Given the description of an element on the screen output the (x, y) to click on. 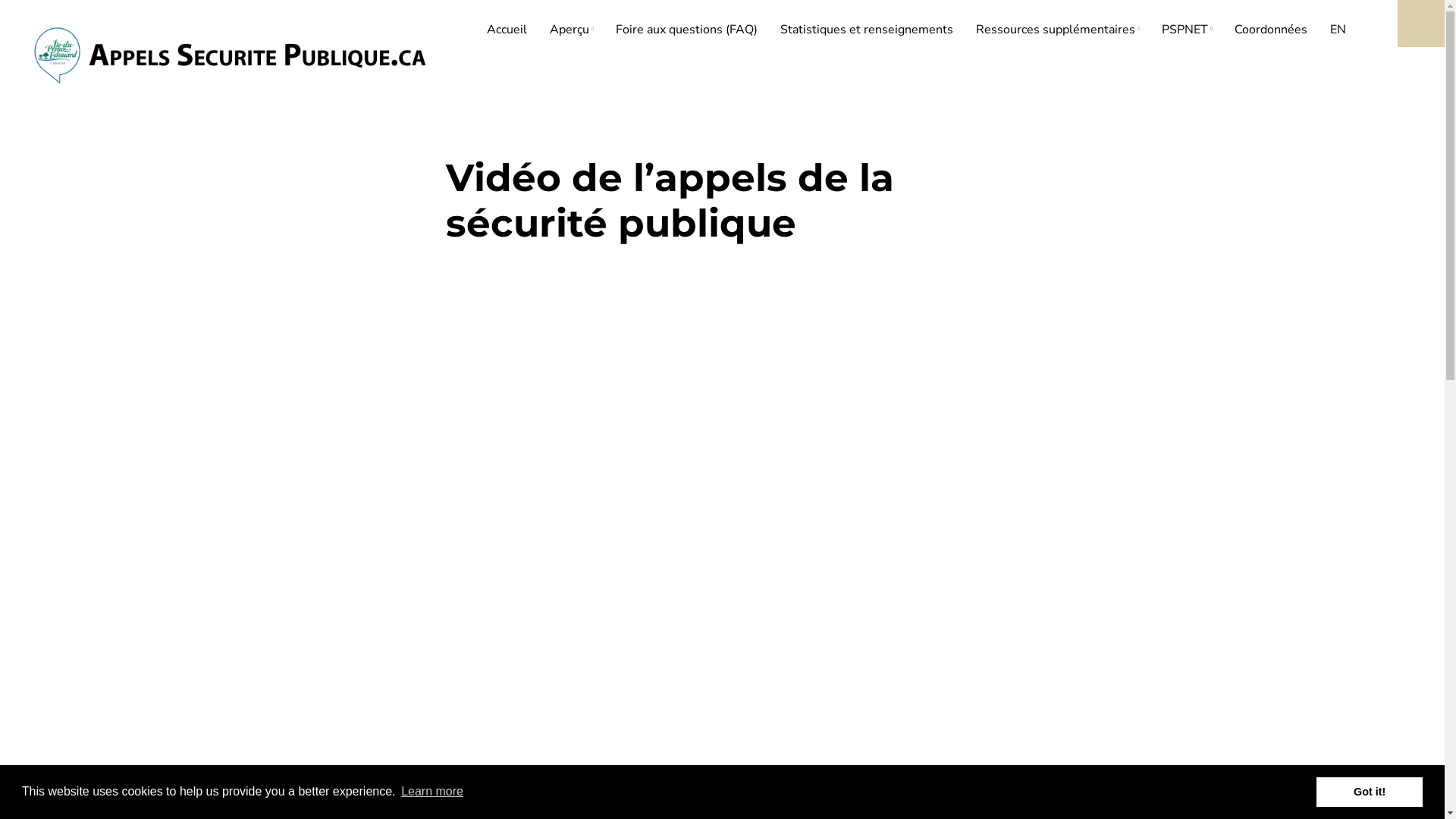
Got it! Element type: text (1369, 791)
Foire aux questions (FAQ) Element type: text (686, 29)
Learn more Element type: text (431, 791)
Home Element type: hover (231, 52)
Statistiques et renseignements Element type: text (866, 29)
EN Element type: text (1337, 29)
Accueil Element type: text (506, 29)
Skip to main content Element type: text (0, 0)
YouTube video player Element type: hover (657, 388)
